Given the description of an element on the screen output the (x, y) to click on. 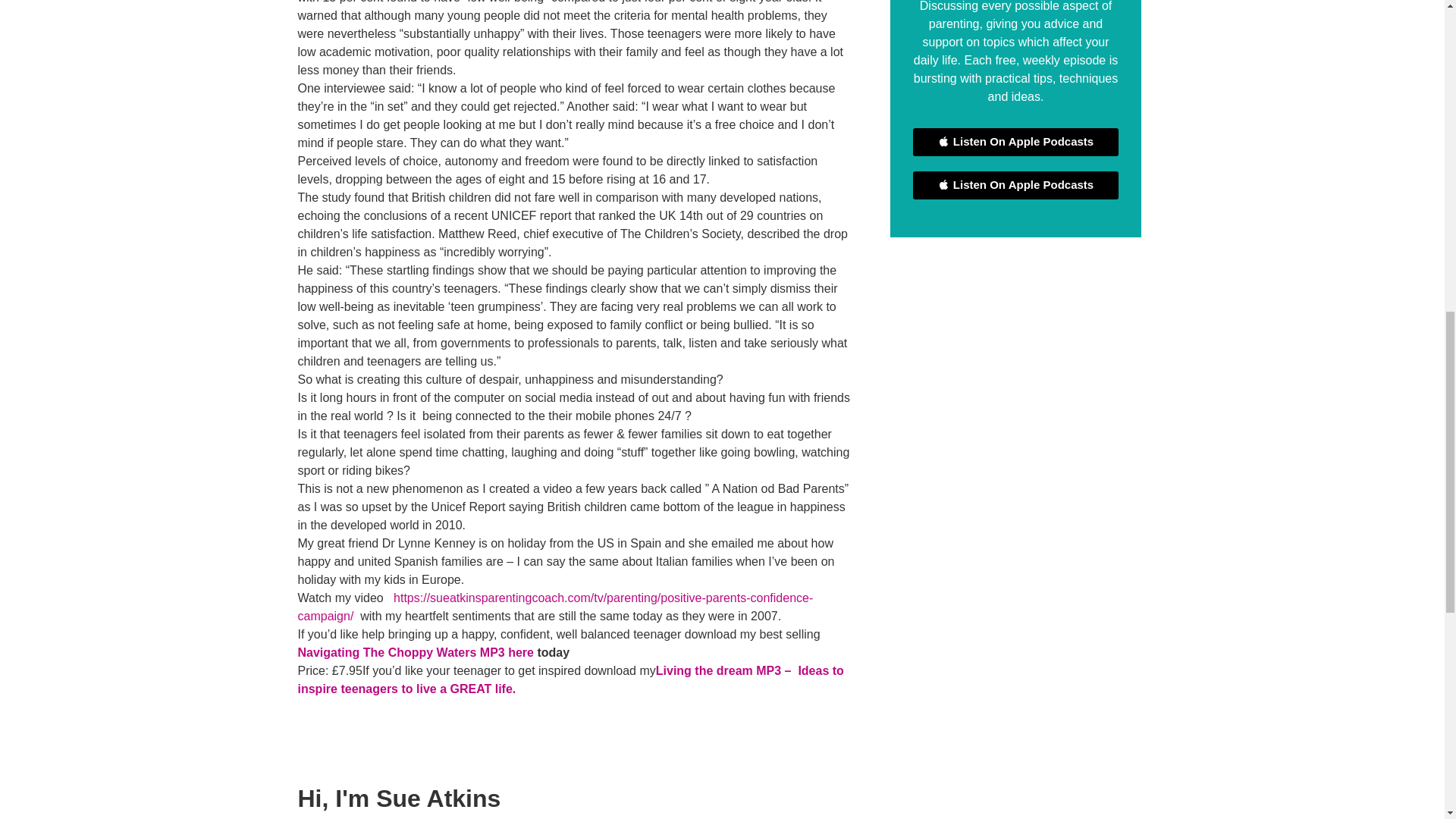
Navigating The Choppy Waters (521, 652)
